Given the description of an element on the screen output the (x, y) to click on. 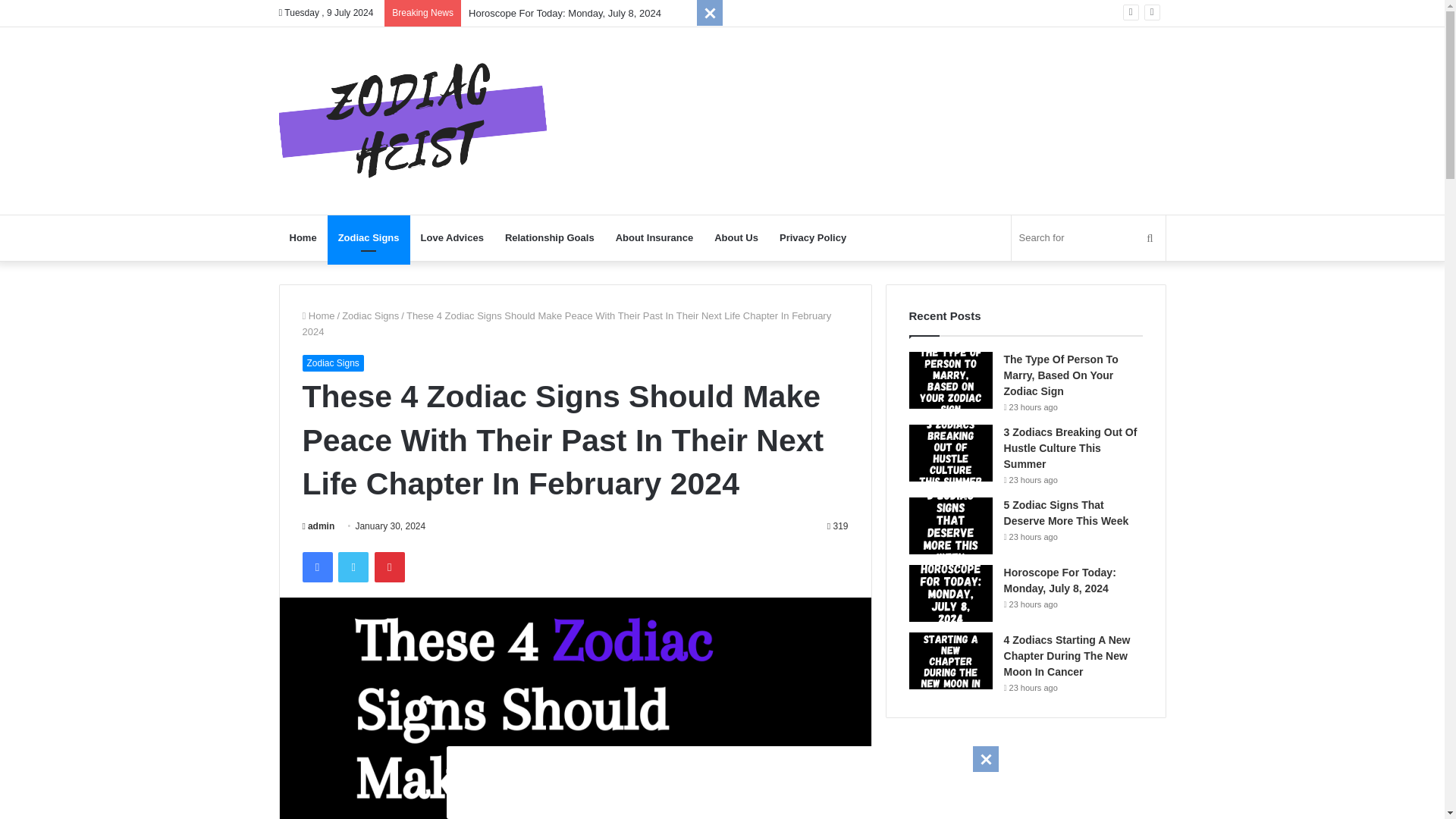
Zodiac Signs (368, 238)
About Insurance (654, 238)
Facebook (316, 567)
Privacy Policy (812, 238)
Home (317, 315)
Zodiac Signs (370, 315)
Zodiac Signs (331, 362)
Horoscope For Today: Monday, July 8, 2024 (564, 12)
Twitter (352, 567)
About Us (735, 238)
Love Advices (452, 238)
admin (317, 525)
Pinterest (389, 567)
Advertisement (721, 780)
Twitter (352, 567)
